Given the description of an element on the screen output the (x, y) to click on. 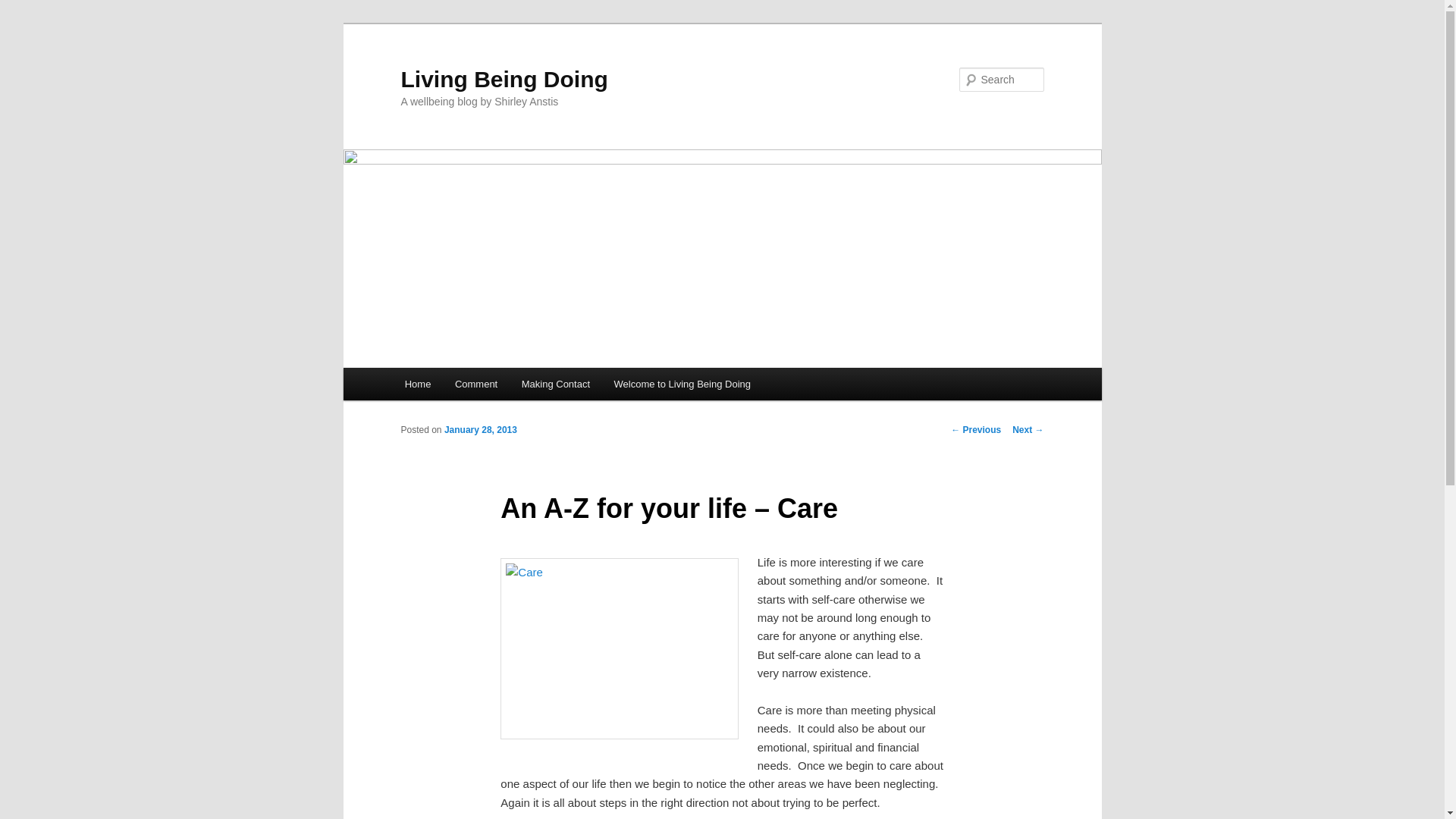
Search (24, 8)
Living Being Doing (503, 78)
Welcome to Living Being Doing (682, 383)
Comment (475, 383)
January 28, 2013 (480, 429)
Home (417, 383)
Making Contact (555, 383)
